Given the description of an element on the screen output the (x, y) to click on. 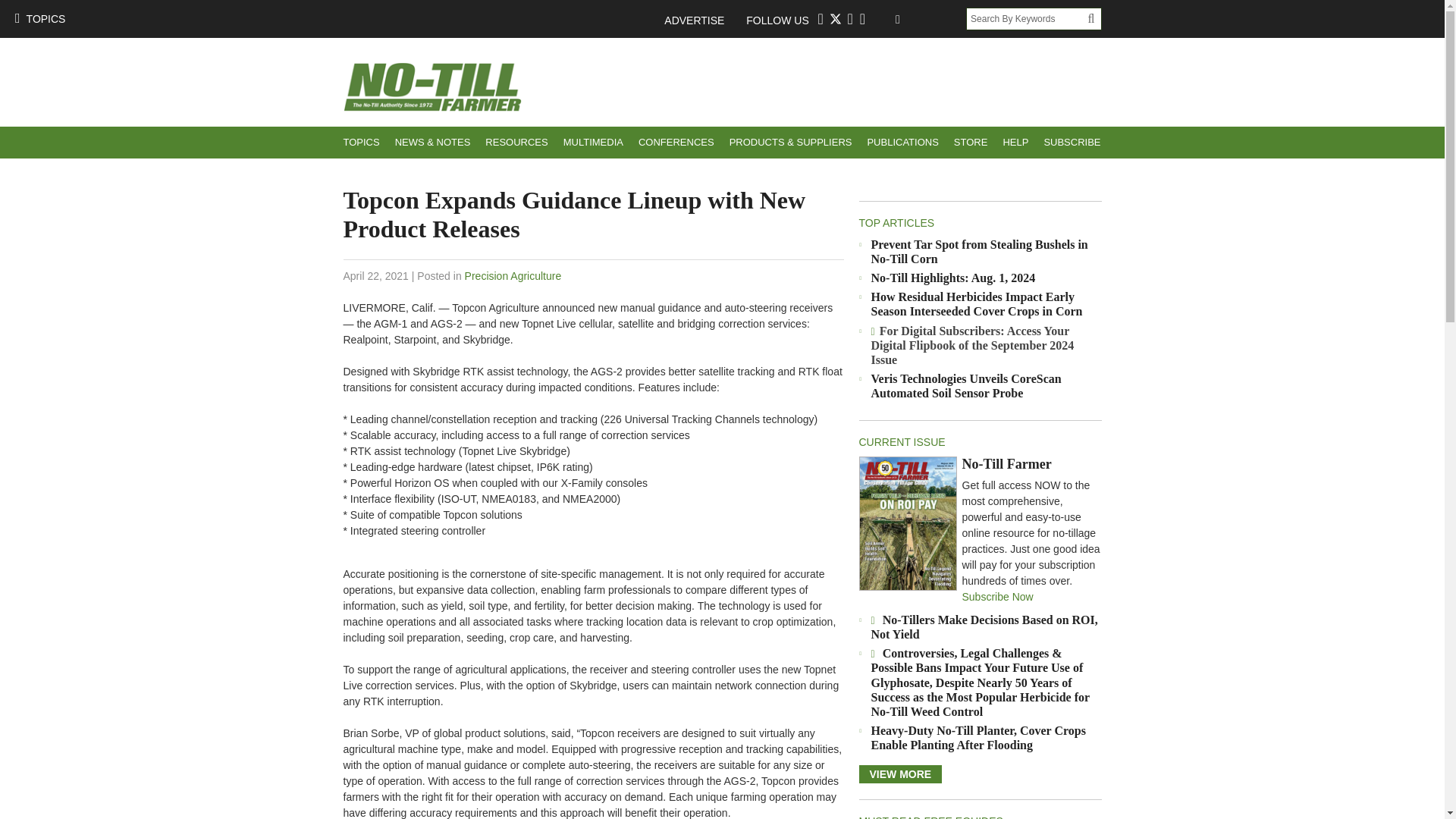
Prevent Tar Spot from Stealing Bushels in No-Till Corn (978, 251)
Search By Keywords (1026, 18)
TOPICS (360, 142)
No-Till Highlights: Aug. 1, 2024 (952, 277)
TOPICS (39, 18)
ADVERTISE (701, 20)
Search By Keywords (1026, 18)
